Given the description of an element on the screen output the (x, y) to click on. 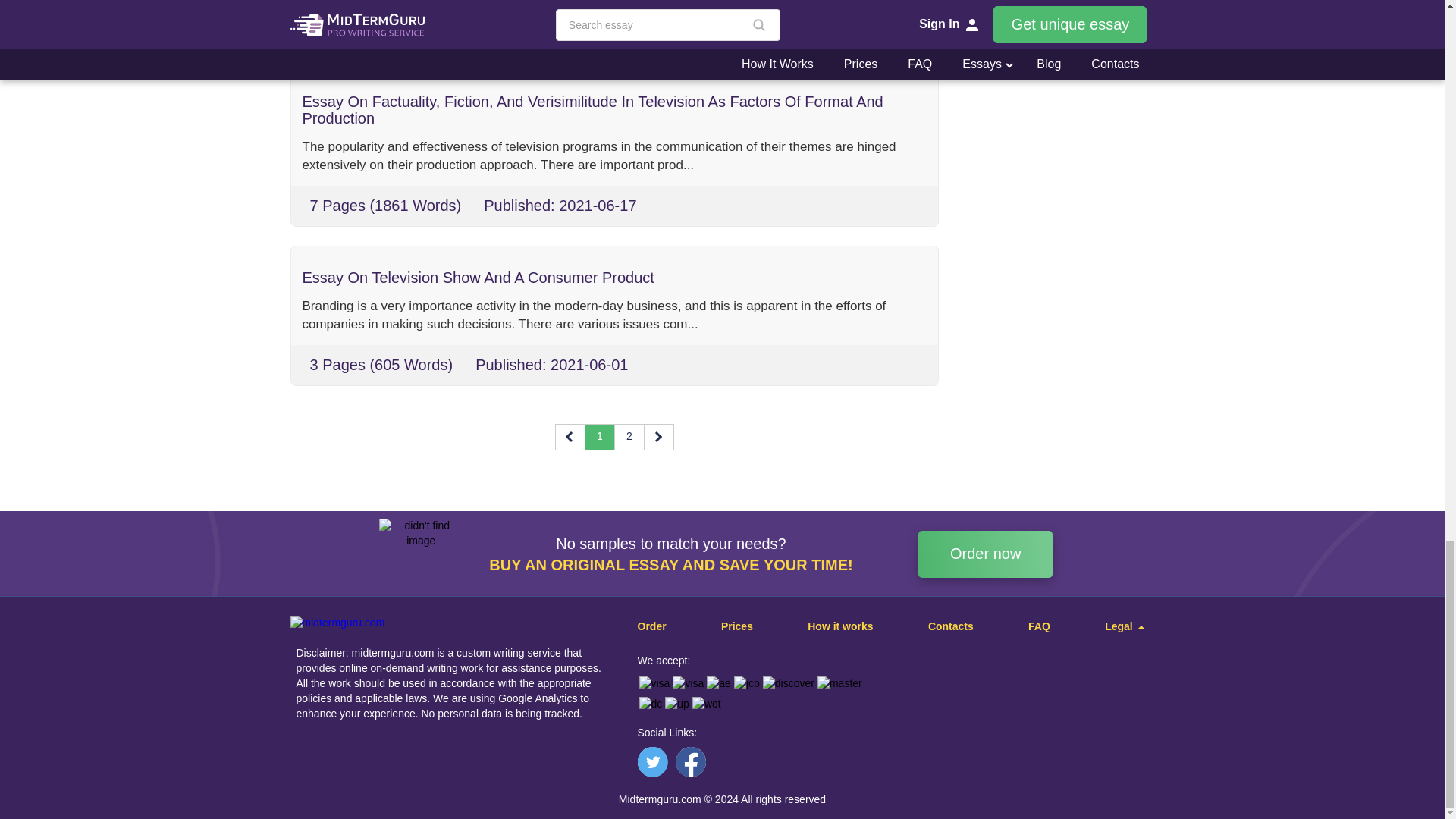
current page (598, 437)
